Given the description of an element on the screen output the (x, y) to click on. 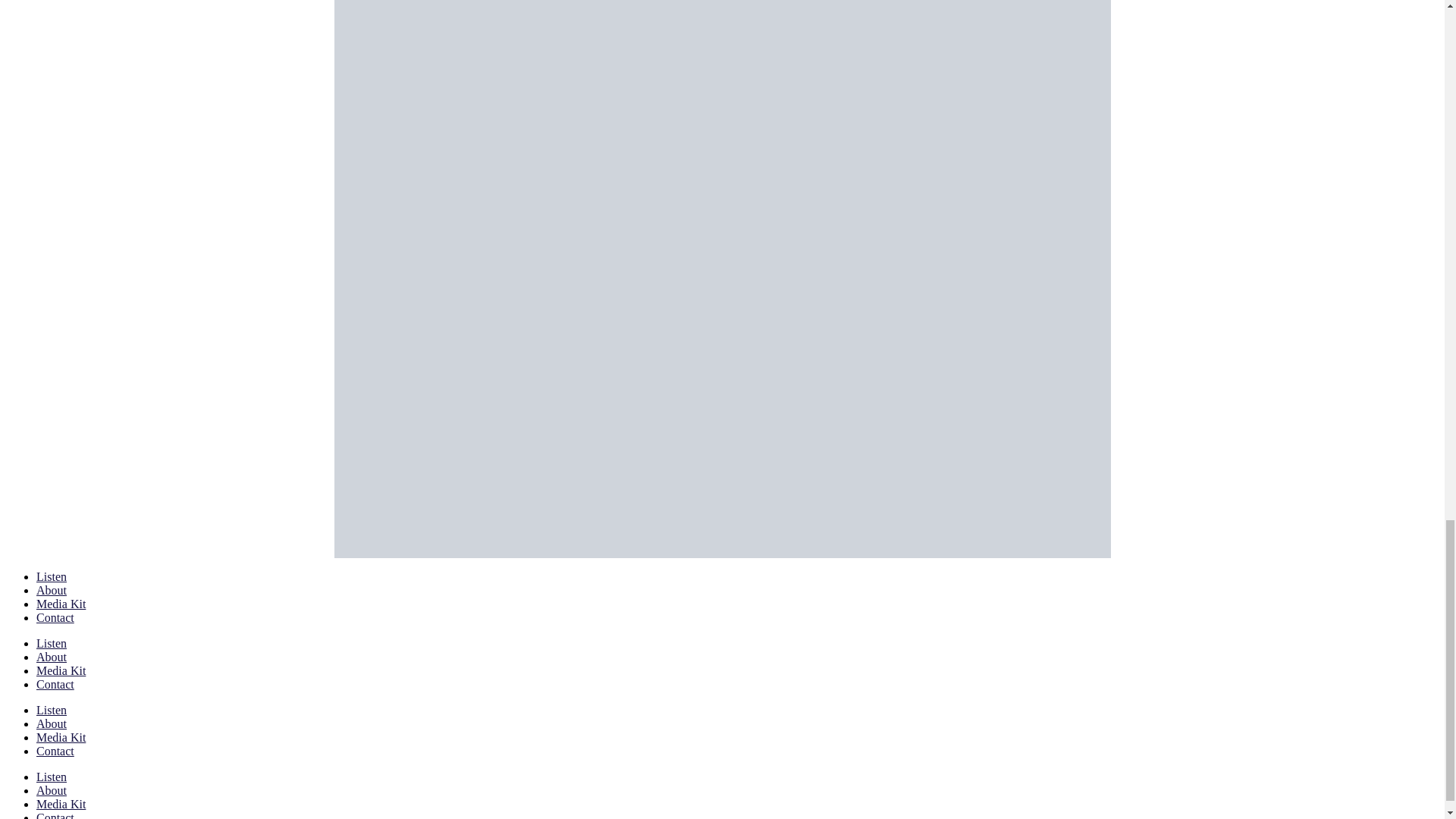
Contact (55, 684)
Contact (55, 750)
Media Kit (60, 670)
About (51, 656)
About (51, 590)
Contact (55, 617)
Listen (51, 709)
Listen (51, 776)
About (51, 723)
Media Kit (60, 603)
